Given the description of an element on the screen output the (x, y) to click on. 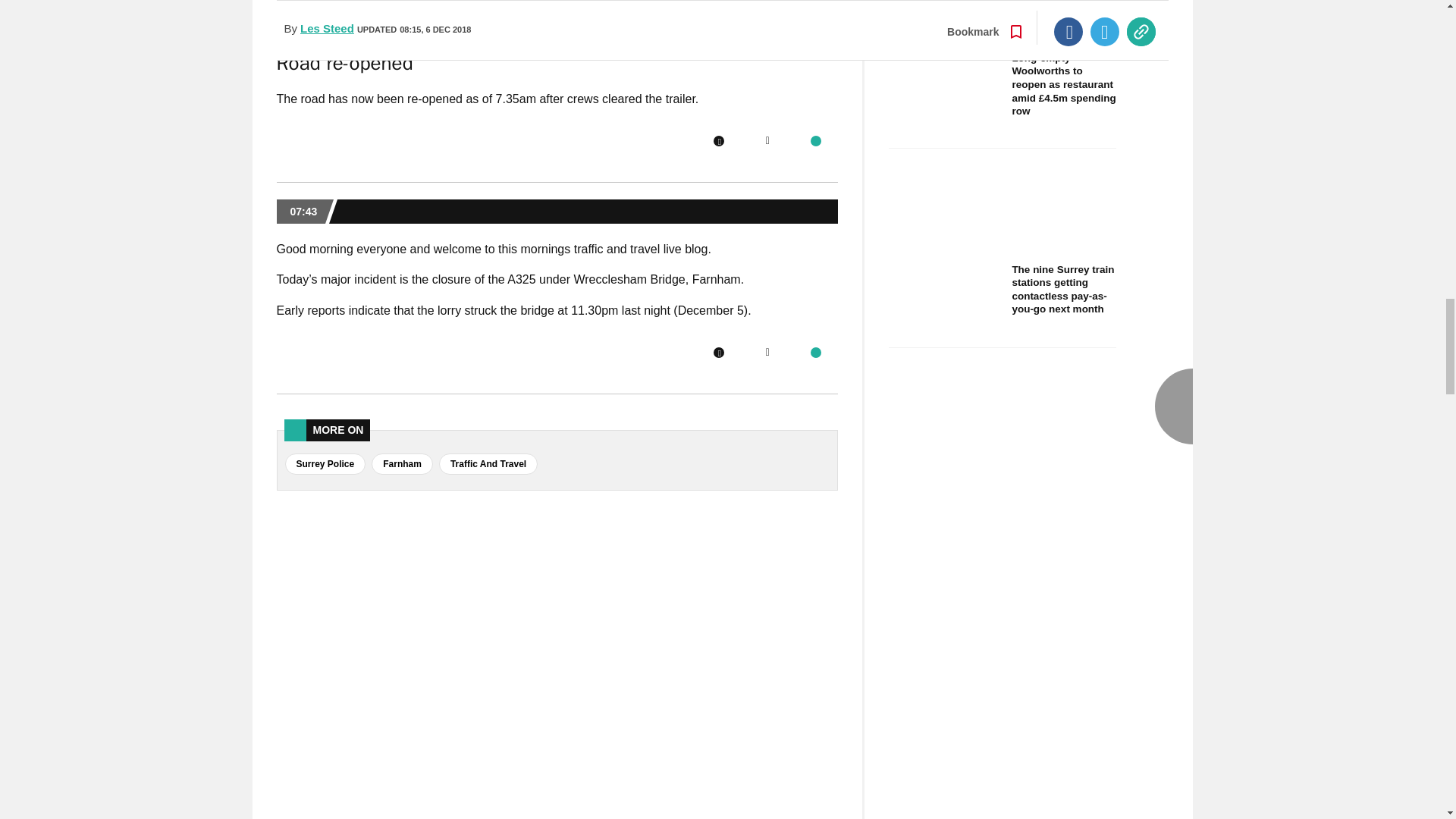
Facebook (718, 352)
Twitter (767, 352)
Twitter (767, 140)
Facebook (718, 140)
